Given the description of an element on the screen output the (x, y) to click on. 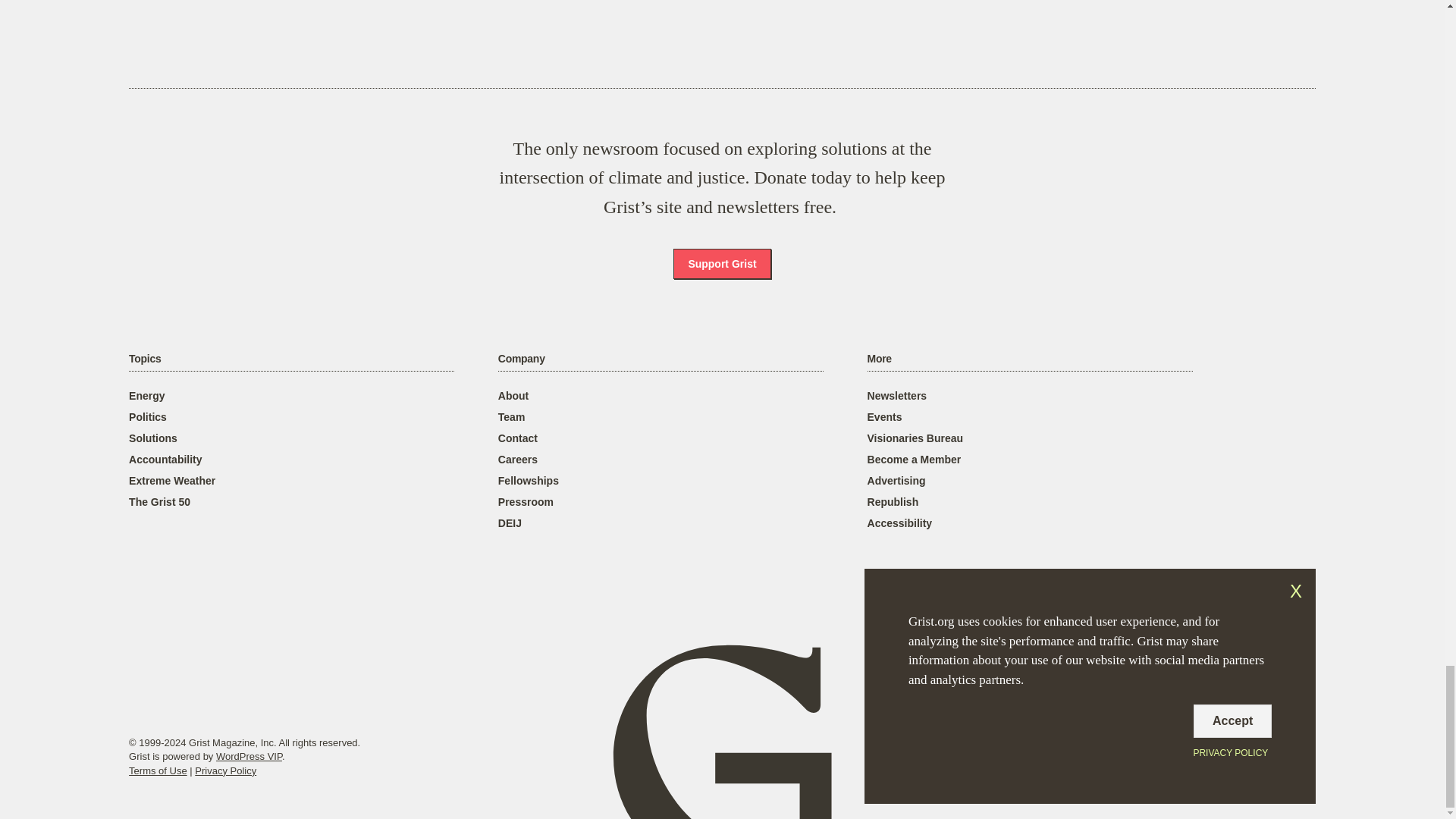
Topics (144, 358)
Company (520, 358)
More (879, 358)
